Given the description of an element on the screen output the (x, y) to click on. 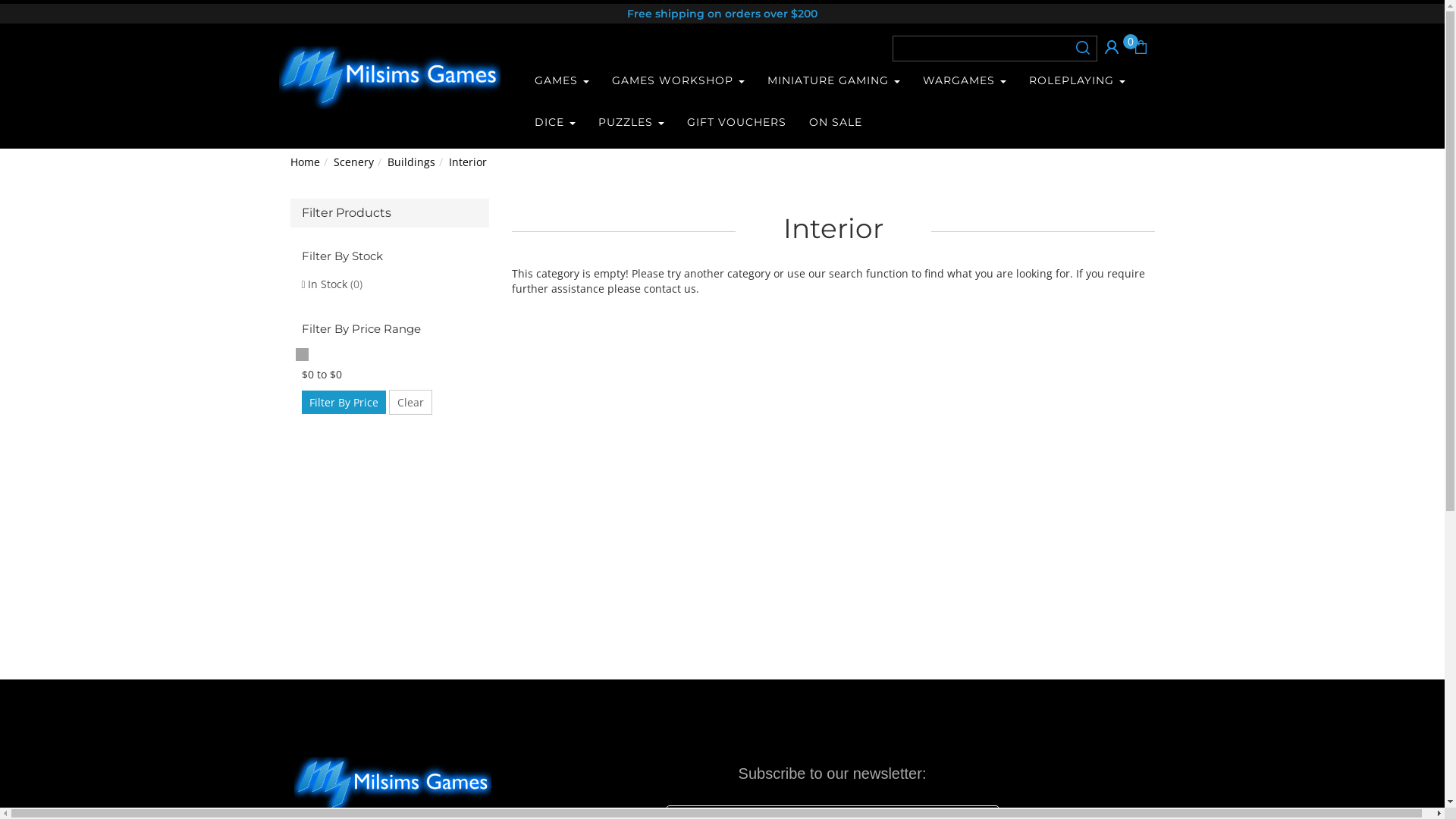
Search Element type: text (1081, 46)
Buildings Element type: text (410, 161)
GIFT VOUCHERS Element type: text (736, 123)
Scenery Element type: text (353, 161)
WARGAMES Element type: text (964, 82)
Clear Element type: text (409, 401)
ON SALE Element type: text (835, 123)
GAMES Element type: text (561, 82)
ROLEPLAYING Element type: text (1076, 82)
DICE Element type: text (554, 123)
MINIATURE GAMING Element type: text (833, 82)
Filter Products Element type: text (389, 212)
Home Element type: text (304, 161)
GAMES WORKSHOP Element type: text (678, 82)
PUZZLES Element type: text (630, 123)
Milsims Games Element type: hover (390, 72)
0 Element type: text (1139, 45)
Filter By Price Element type: text (343, 402)
Interior Element type: text (467, 161)
In Stock (0) Element type: text (389, 284)
